Given the description of an element on the screen output the (x, y) to click on. 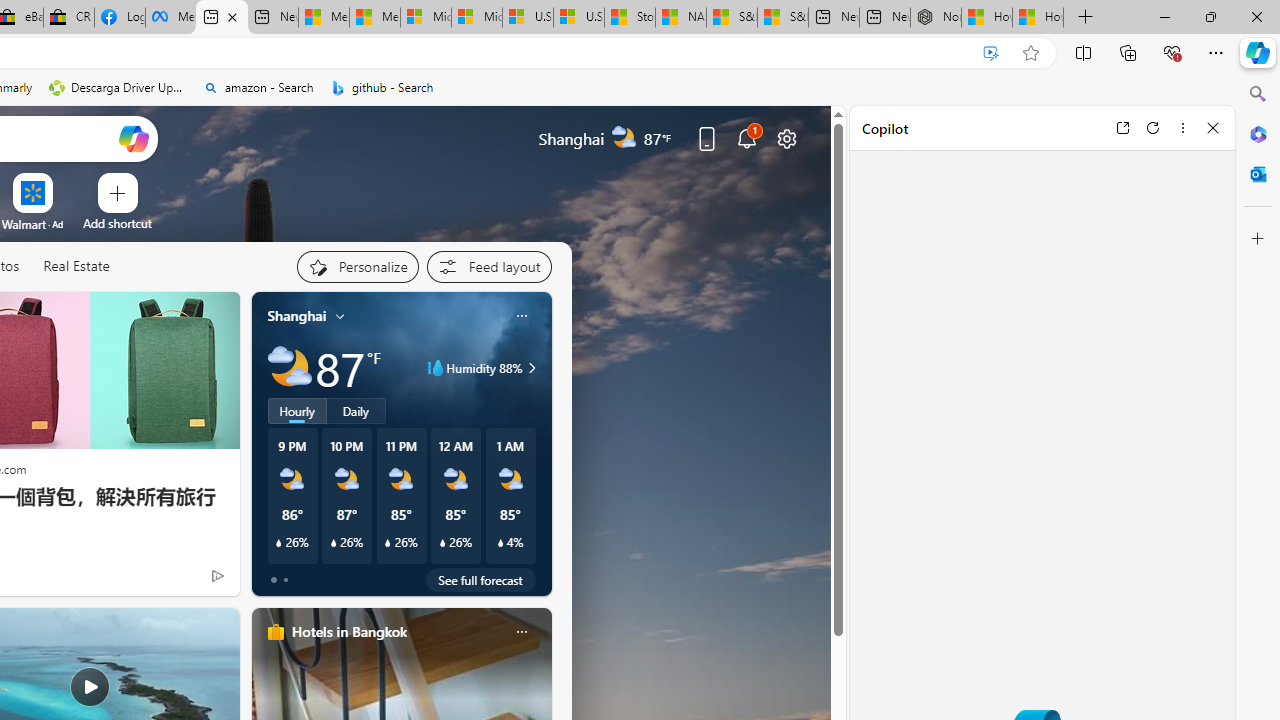
Partly cloudy (289, 368)
tab-0 (273, 579)
github - Search (381, 88)
Outlook (1258, 174)
Descarga Driver Updater (118, 88)
Class: weather-arrow-glyph (531, 367)
Minimize (1164, 16)
Refresh (1153, 127)
